Given the description of an element on the screen output the (x, y) to click on. 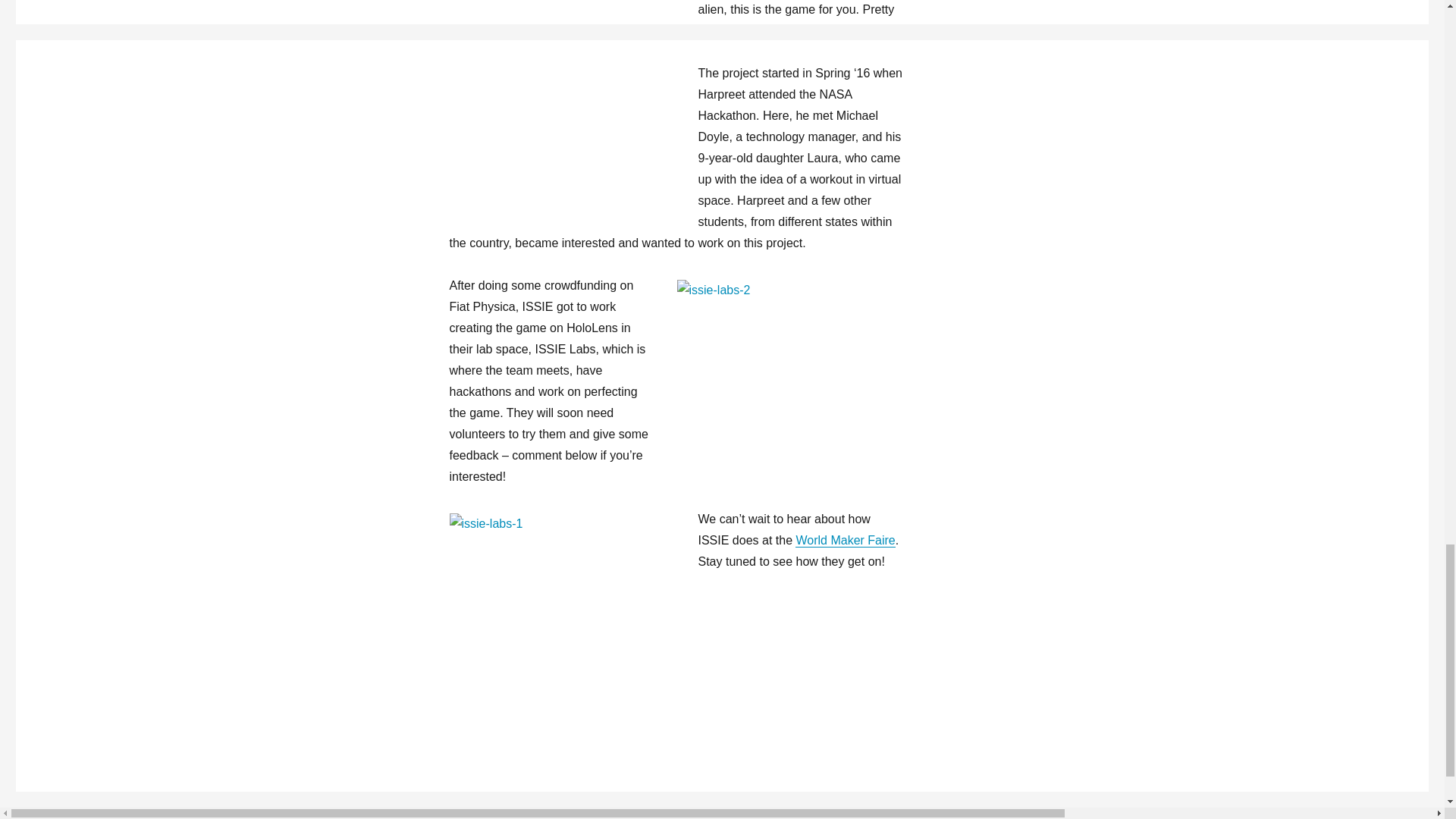
World Maker Faire (844, 540)
